Given the description of an element on the screen output the (x, y) to click on. 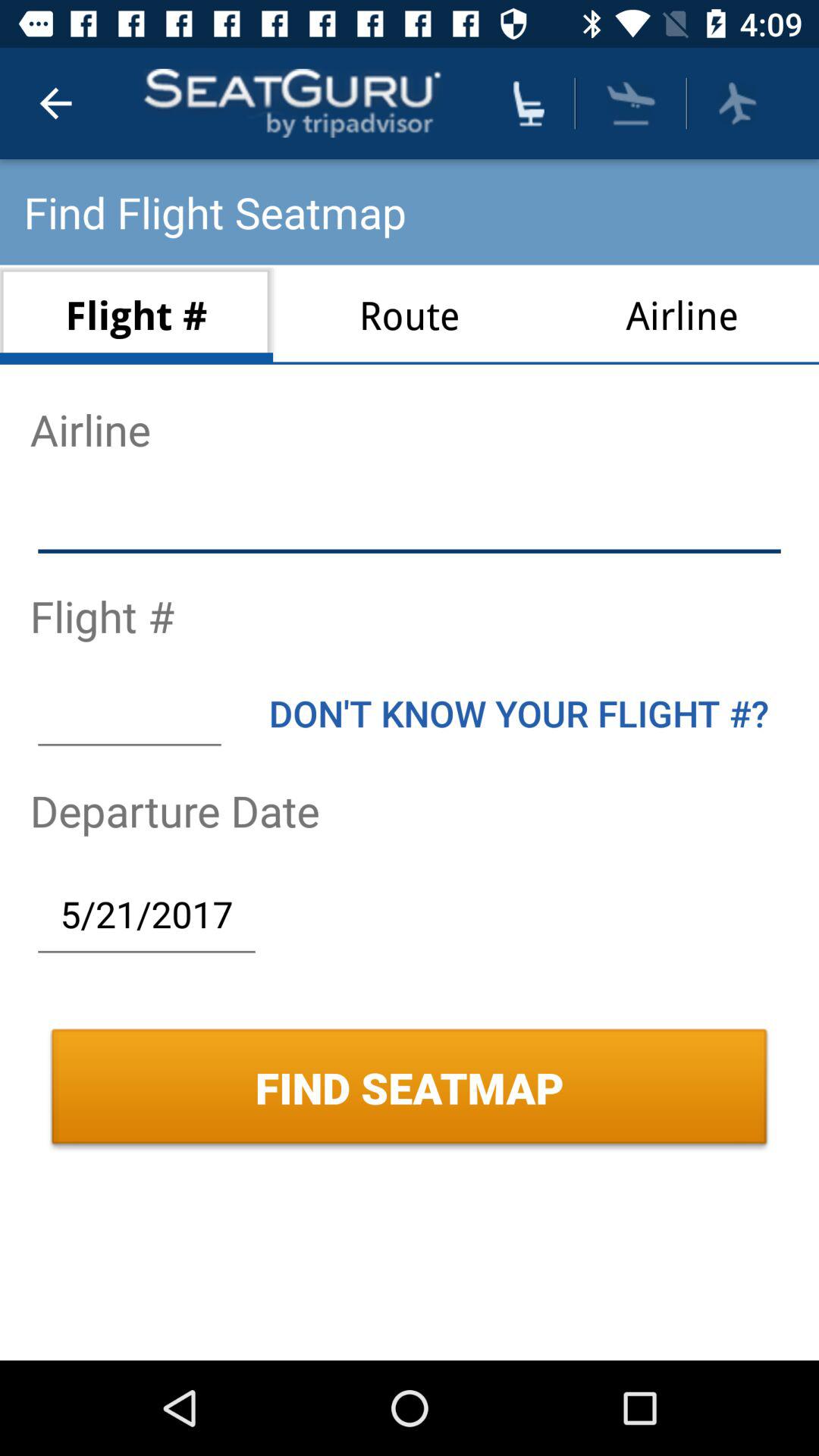
jump until the route (409, 314)
